Given the description of an element on the screen output the (x, y) to click on. 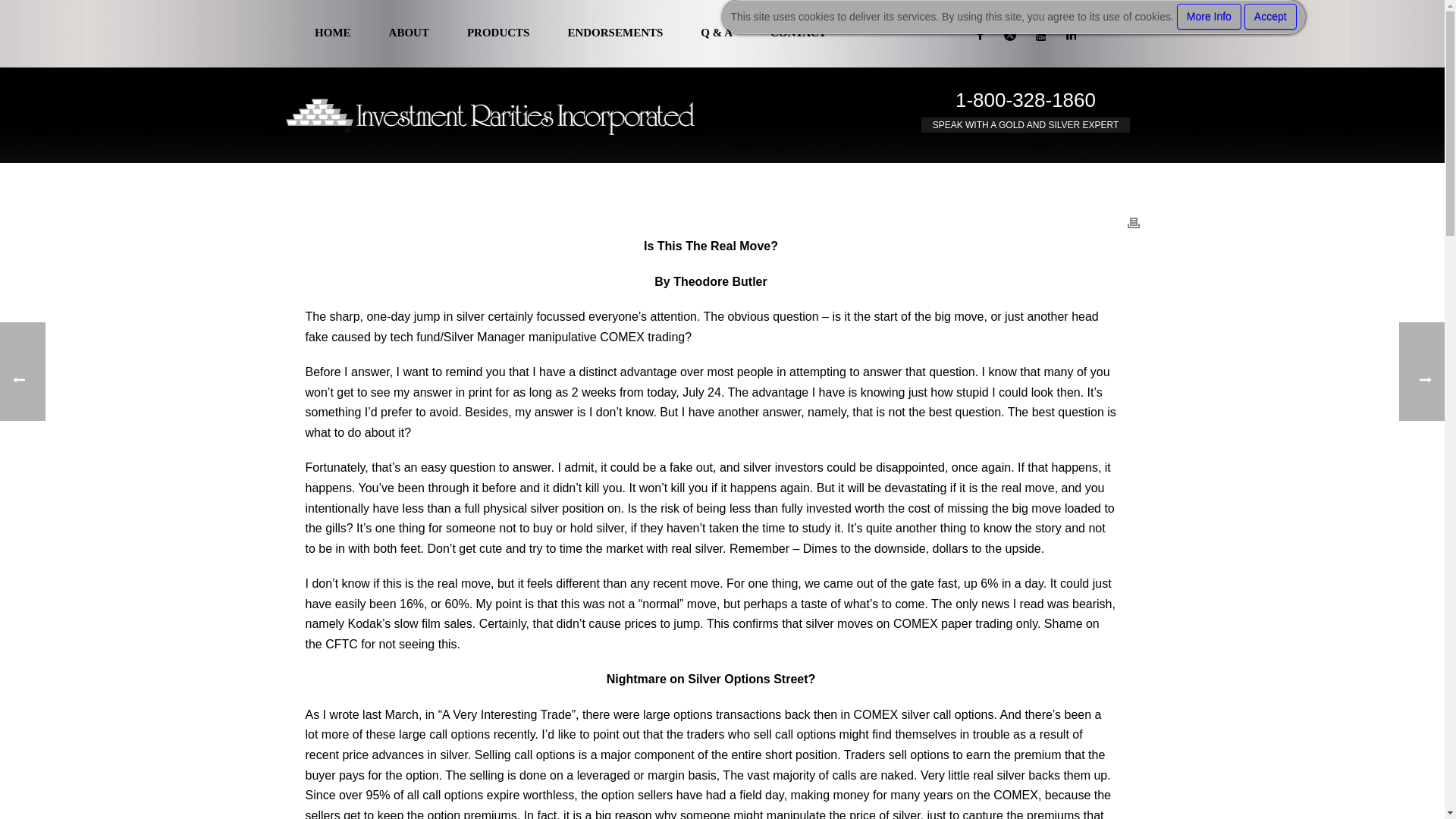
SPEAK WITH A GOLD AND SILVER EXPERT (1026, 124)
CONTACT (798, 33)
1-800-328-1860 (1025, 99)
ABOUT (409, 33)
ENDORSEMENTS (615, 33)
PRODUCTS (498, 33)
HOME (332, 33)
CONTACT (798, 33)
HOME (332, 33)
ABOUT (409, 33)
PRODUCTS (498, 33)
ENDORSEMENTS (615, 33)
